Given the description of an element on the screen output the (x, y) to click on. 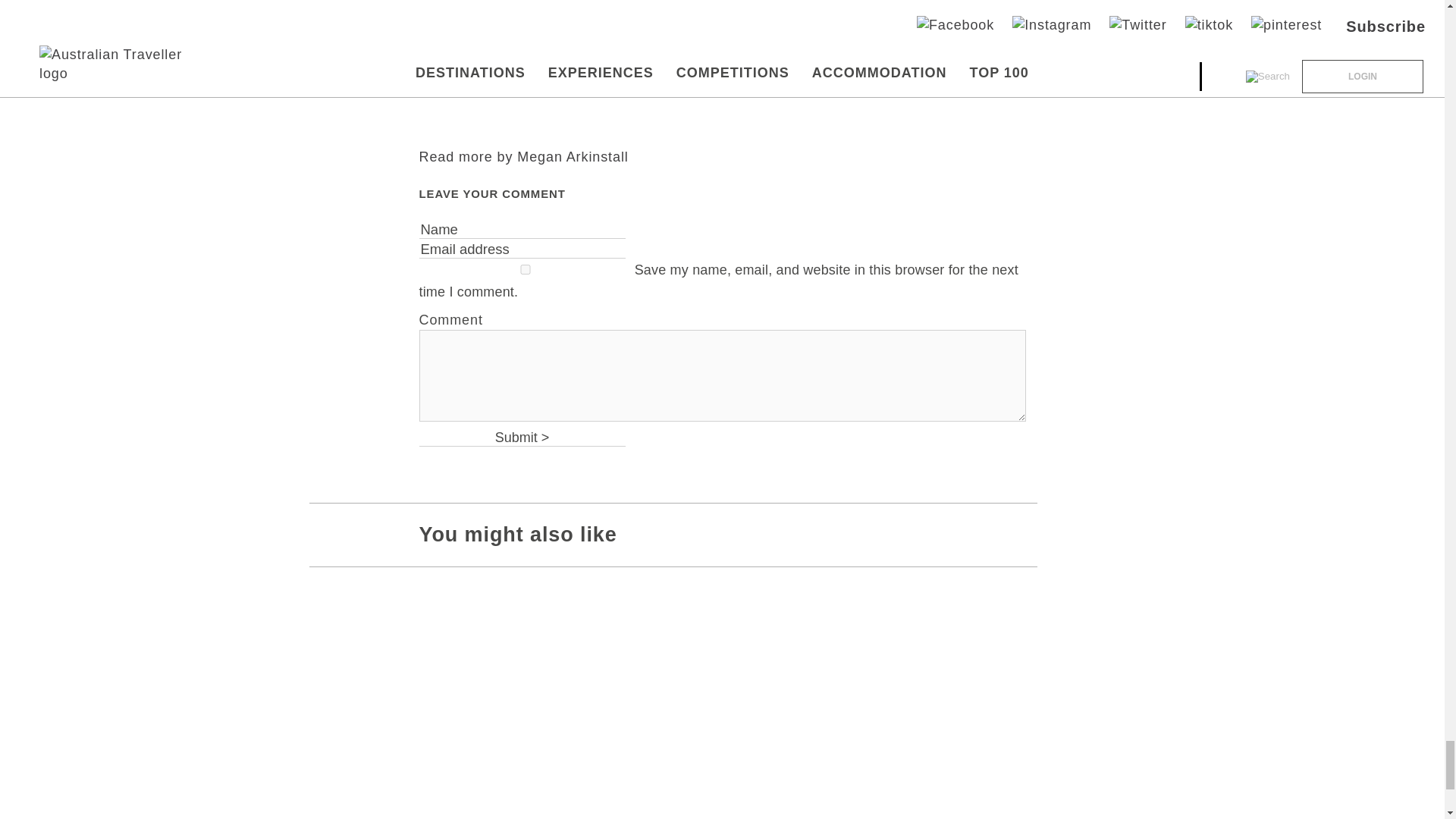
Instagram (491, 115)
Read more (523, 156)
yes (524, 269)
